Given the description of an element on the screen output the (x, y) to click on. 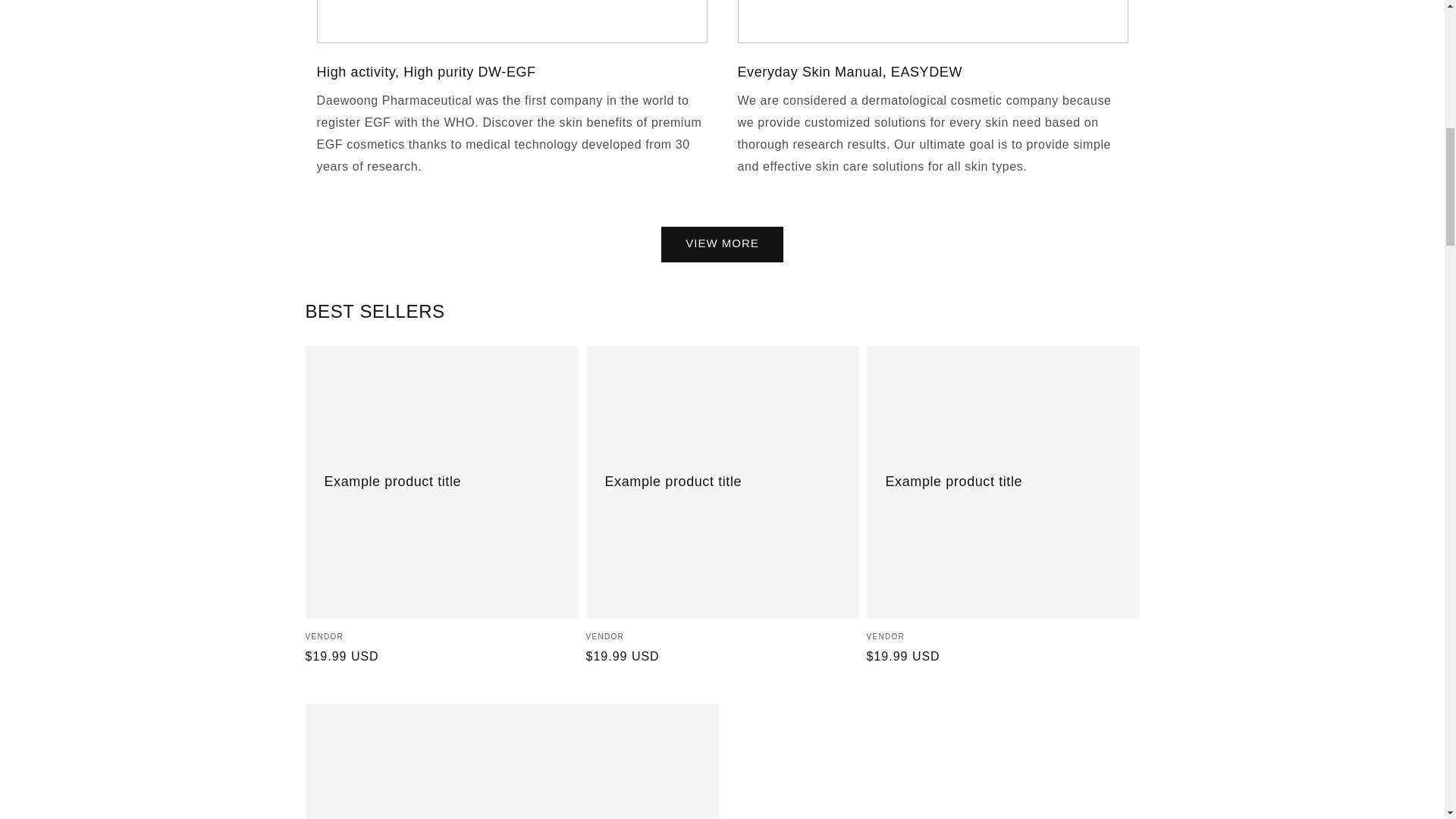
VIEW MORE (722, 244)
Example product title (510, 761)
